Given the description of an element on the screen output the (x, y) to click on. 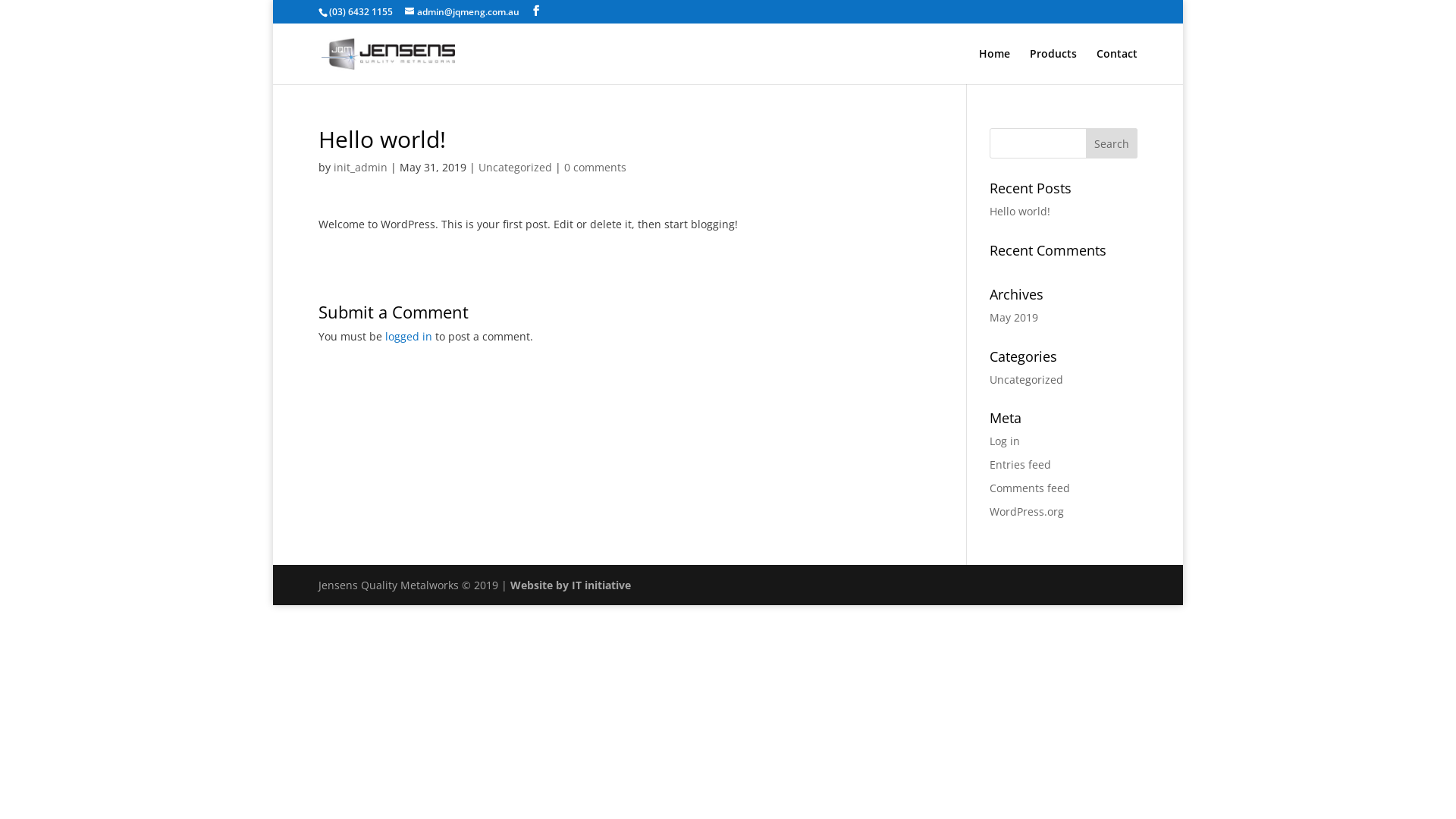
May 2019 Element type: text (1013, 317)
Log in Element type: text (1004, 440)
Comments feed Element type: text (1029, 487)
Search Element type: text (1111, 143)
Contact Element type: text (1116, 66)
0 comments Element type: text (595, 167)
logged in Element type: text (408, 336)
Entries feed Element type: text (1020, 464)
init_admin Element type: text (360, 167)
Uncategorized Element type: text (515, 167)
admin@jqmeng.com.au Element type: text (461, 11)
Hello world! Element type: text (1019, 210)
Products Element type: text (1052, 66)
Uncategorized Element type: text (1026, 379)
Website by IT initiative Element type: text (570, 584)
Home Element type: text (994, 66)
WordPress.org Element type: text (1026, 511)
